Given the description of an element on the screen output the (x, y) to click on. 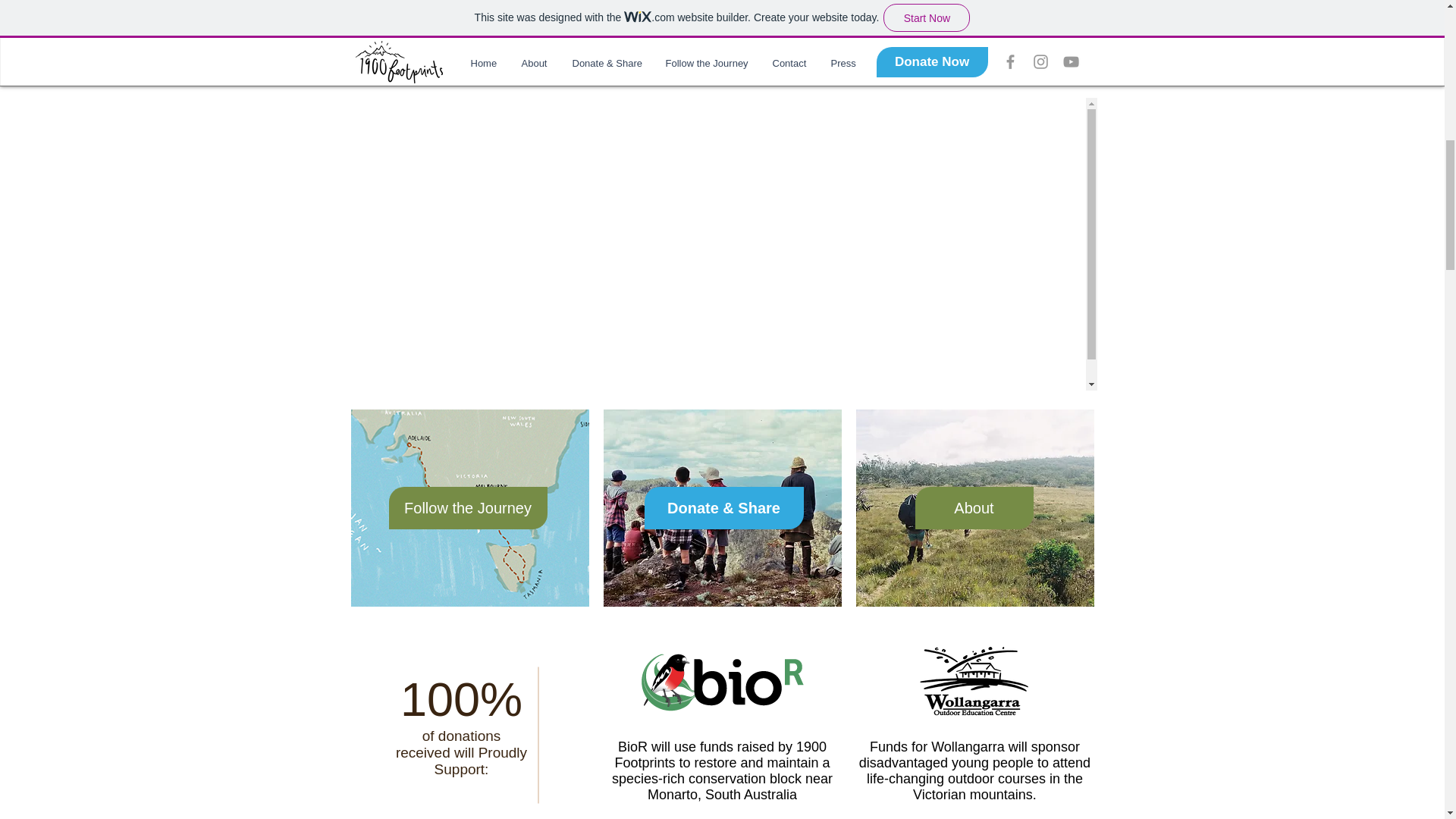
5002-019.JPG (974, 507)
External YouTube (721, 45)
Follow the Journey (467, 507)
About (973, 507)
